Given the description of an element on the screen output the (x, y) to click on. 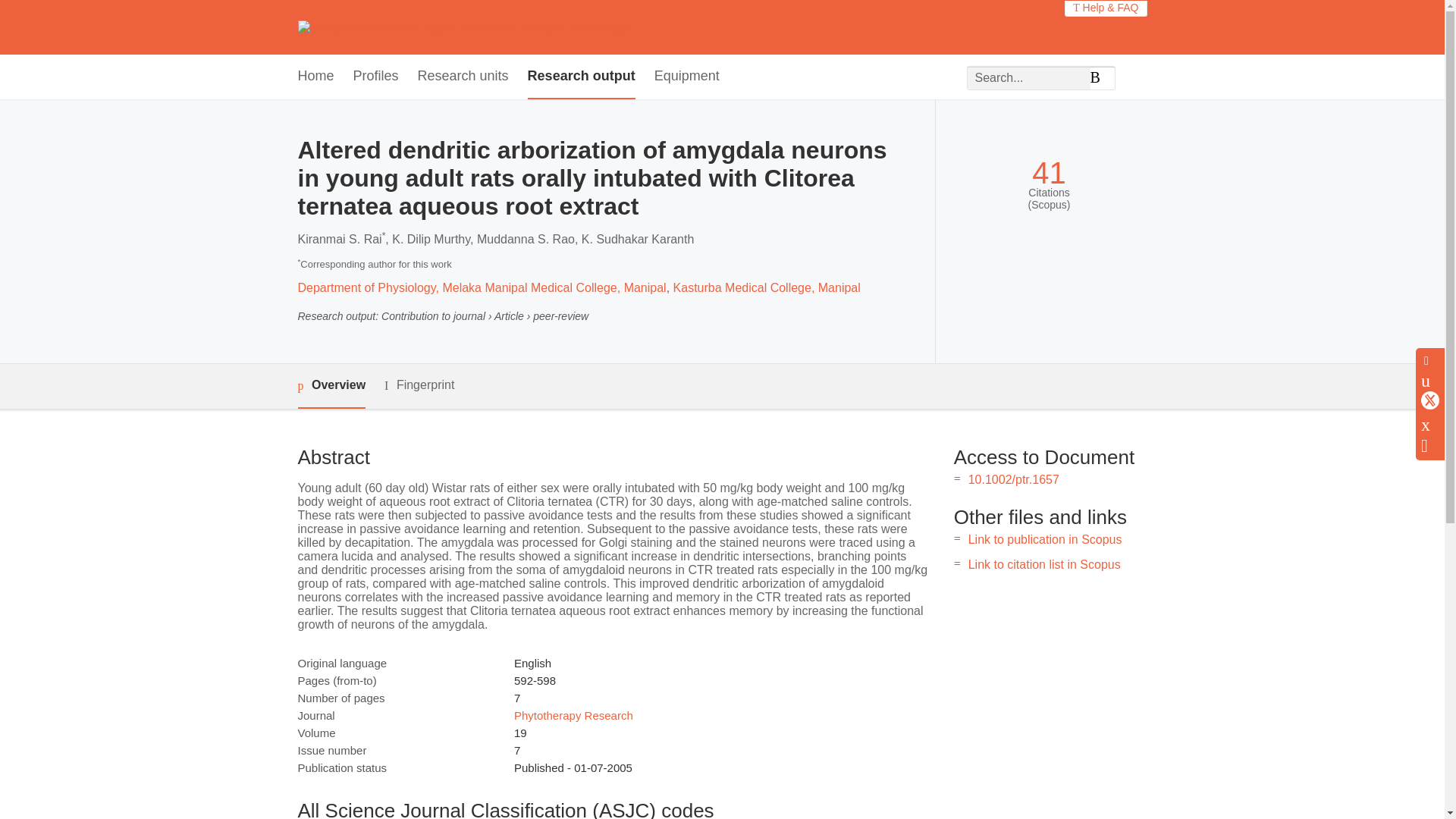
41 (1048, 172)
Equipment (686, 76)
Research output (580, 76)
Profiles (375, 76)
Link to publication in Scopus (1045, 539)
Manipal Academy of Higher Education, Manipal, India Home (462, 27)
Kasturba Medical College, Manipal (766, 287)
Phytotherapy Research (573, 715)
